Given the description of an element on the screen output the (x, y) to click on. 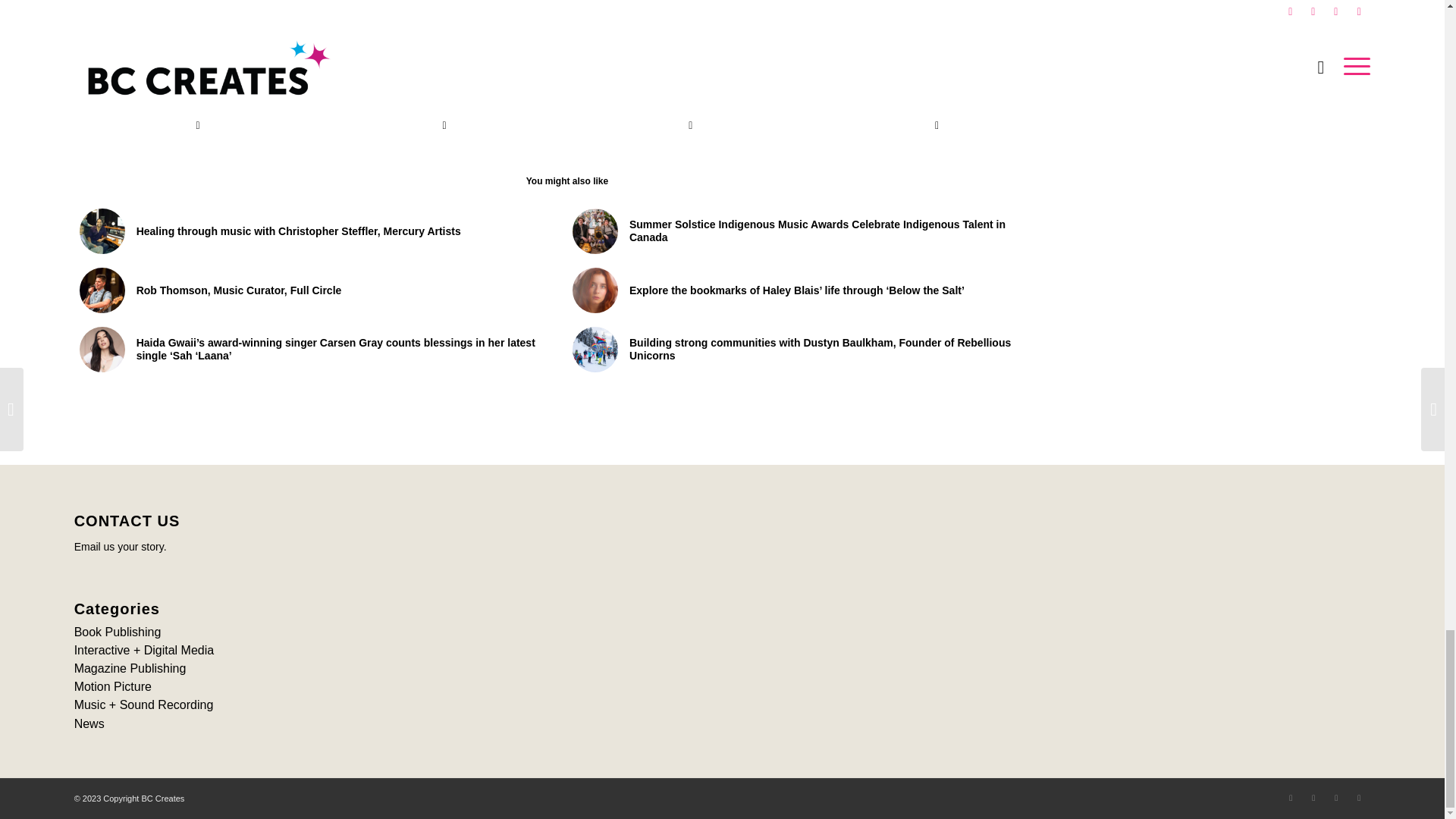
BC MUSIC (496, 47)
BIPOC MUSIC (556, 47)
JNGL (678, 47)
AMPLIFY BC (438, 47)
Rob Thomson, Music Curator, Full Circle (319, 290)
IAMTHELIVING (627, 47)
